Given the description of an element on the screen output the (x, y) to click on. 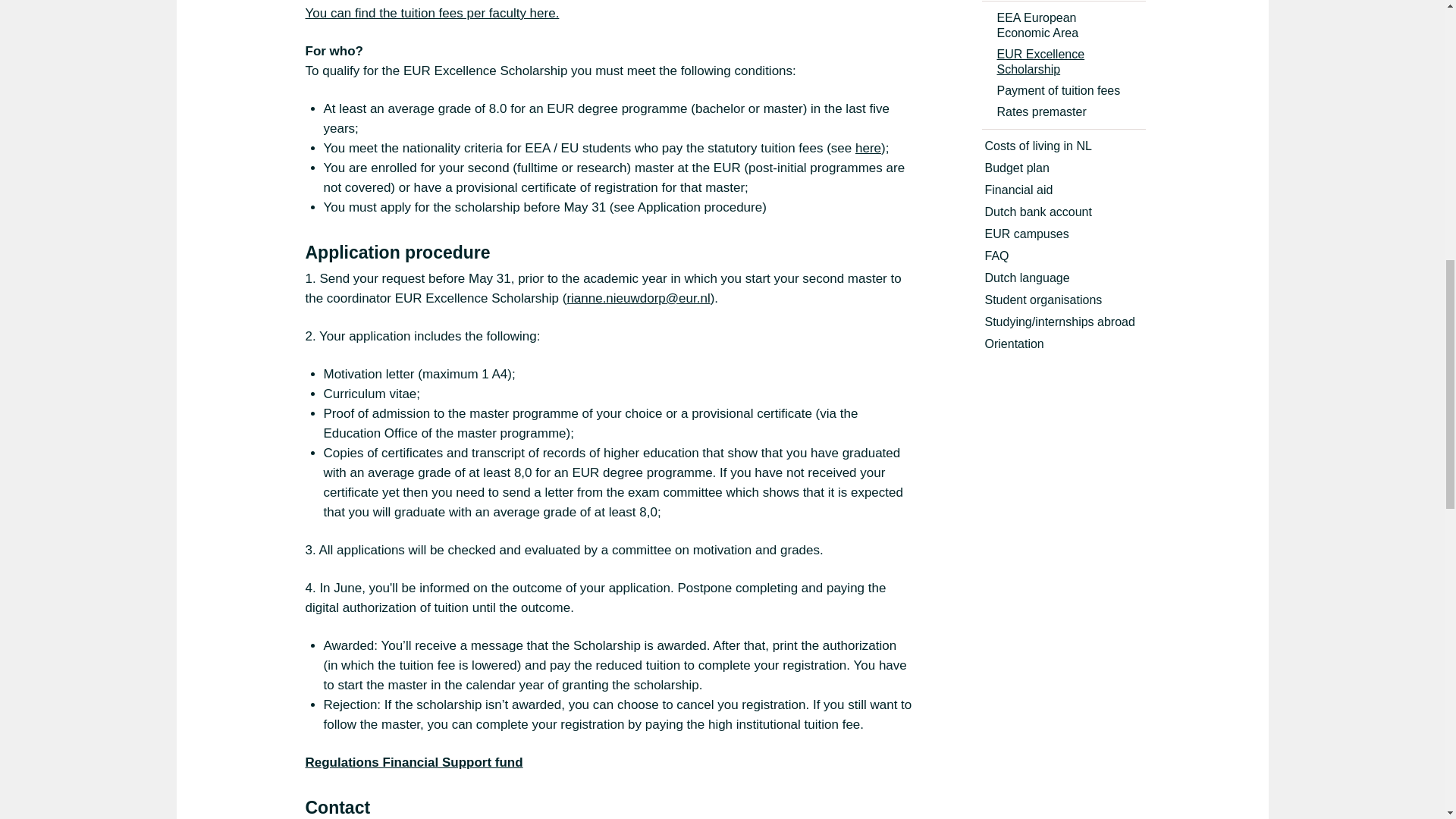
Regulations Financial Support fund (413, 762)
here (868, 147)
You can find the tuition fees per faculty here. (431, 12)
